Given the description of an element on the screen output the (x, y) to click on. 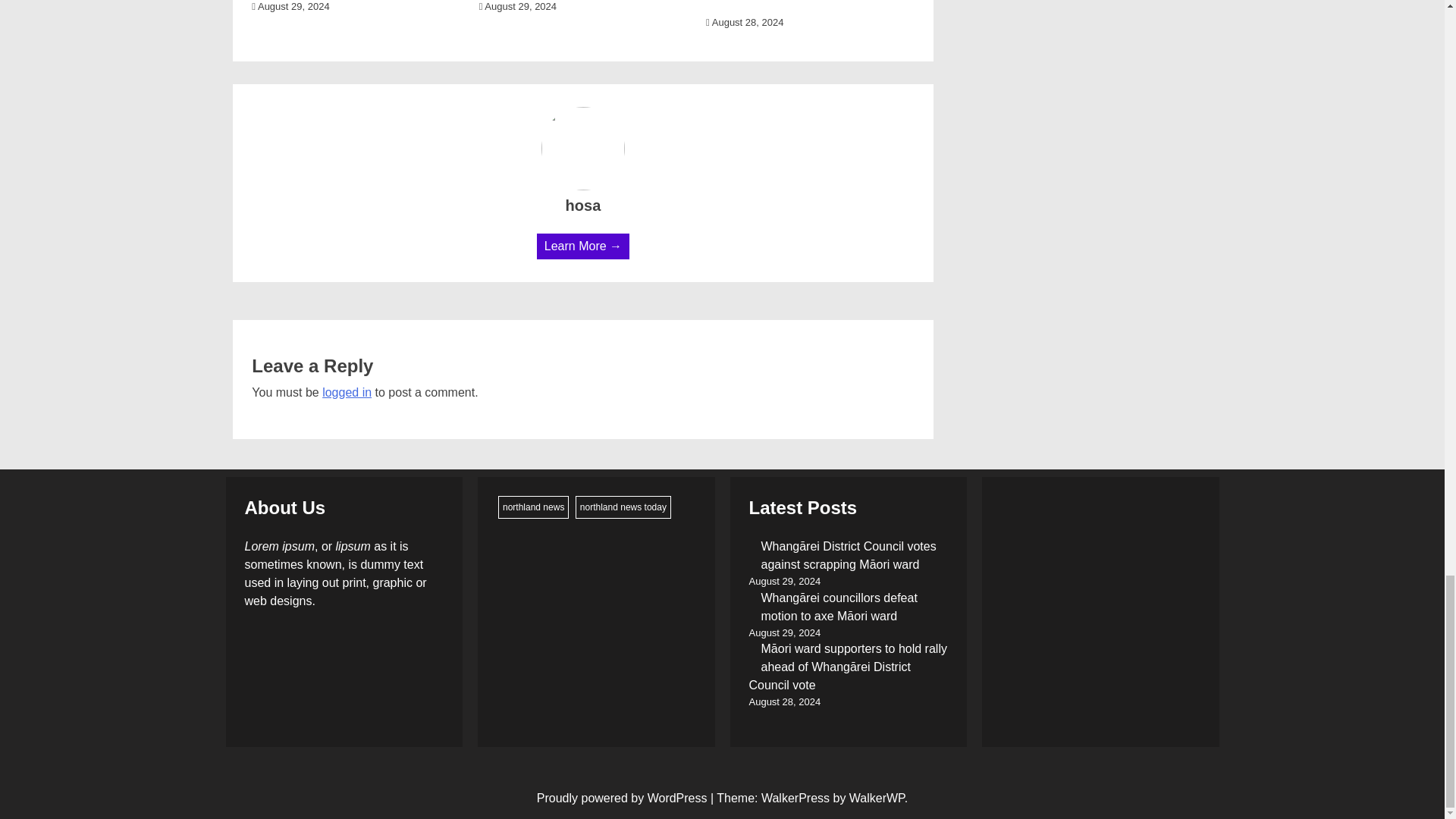
August 29, 2024 (290, 6)
August 28, 2024 (744, 21)
August 29, 2024 (517, 6)
logged in (346, 391)
